Given the description of an element on the screen output the (x, y) to click on. 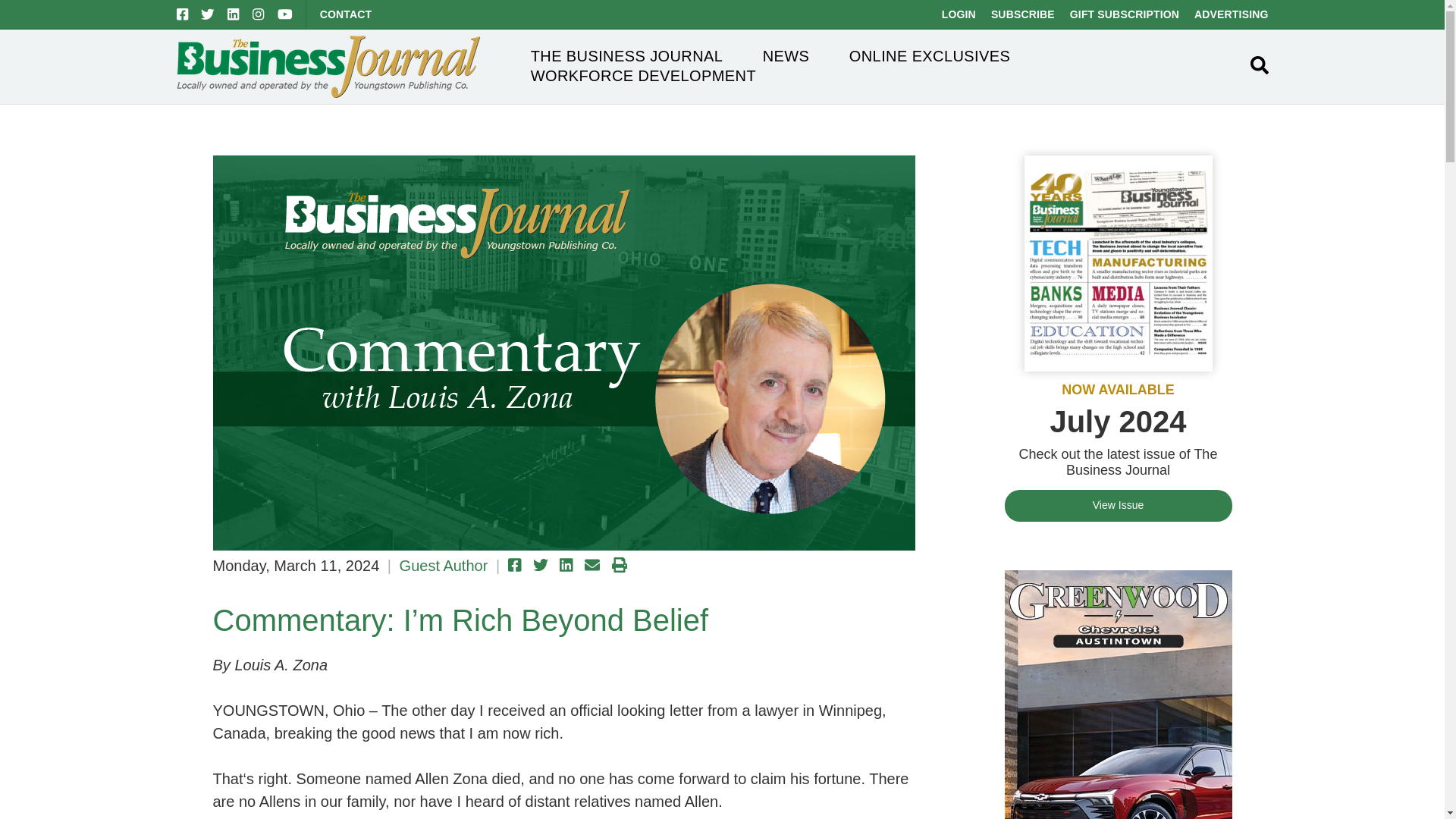
YOUTUBE (285, 13)
SUBSCRIBE (1022, 14)
TWITTER (207, 13)
THE BUSINESS JOURNAL (627, 55)
ADVERTISING (1230, 14)
Share on Twitter (540, 564)
Twitter (207, 13)
TWITTER (207, 14)
Share on email (592, 564)
Share on Twitter (540, 564)
CONTACT (346, 14)
Share on print (619, 564)
LOGIN (958, 14)
NEWS (785, 55)
GIFT SUBSCRIPTION (1124, 14)
